Given the description of an element on the screen output the (x, y) to click on. 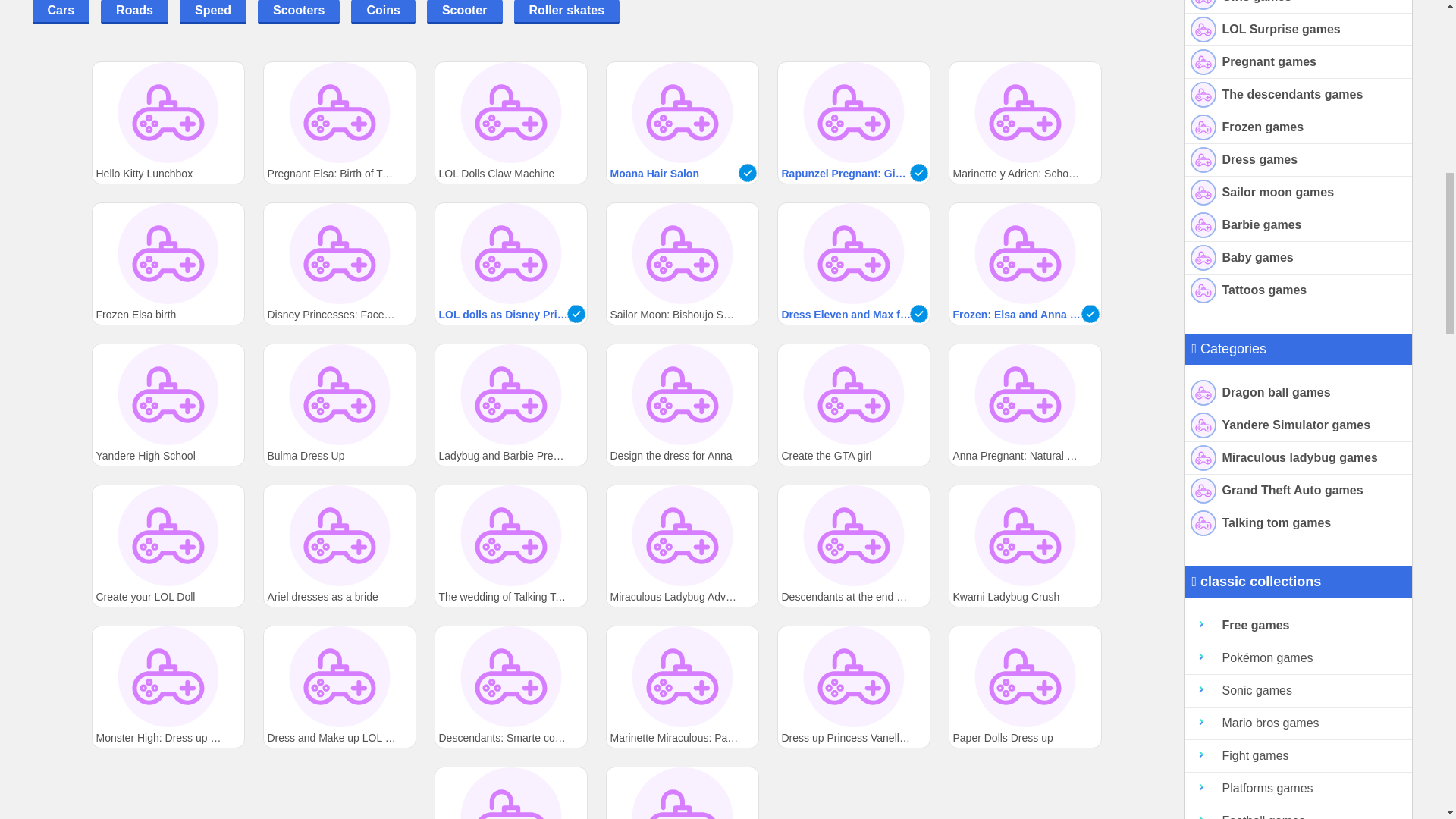
Girls games (1298, 6)
Tattoos games (1298, 290)
Baby games (1298, 257)
The descendants games (1298, 94)
Free Barbie games, Barbie doll (1298, 225)
Dragon ball games (1298, 392)
Platforms games (1298, 789)
Free Pregnant games, Babies (1298, 61)
Yandere Simulator games (1298, 425)
Sailor moon games (1298, 192)
Free Frozen games, Elsa and anna (1298, 127)
Dress games (1298, 160)
Barbie games (1298, 225)
Free Girls games (1298, 6)
Free Dress games, Dress fashionably (1298, 160)
